Given the description of an element on the screen output the (x, y) to click on. 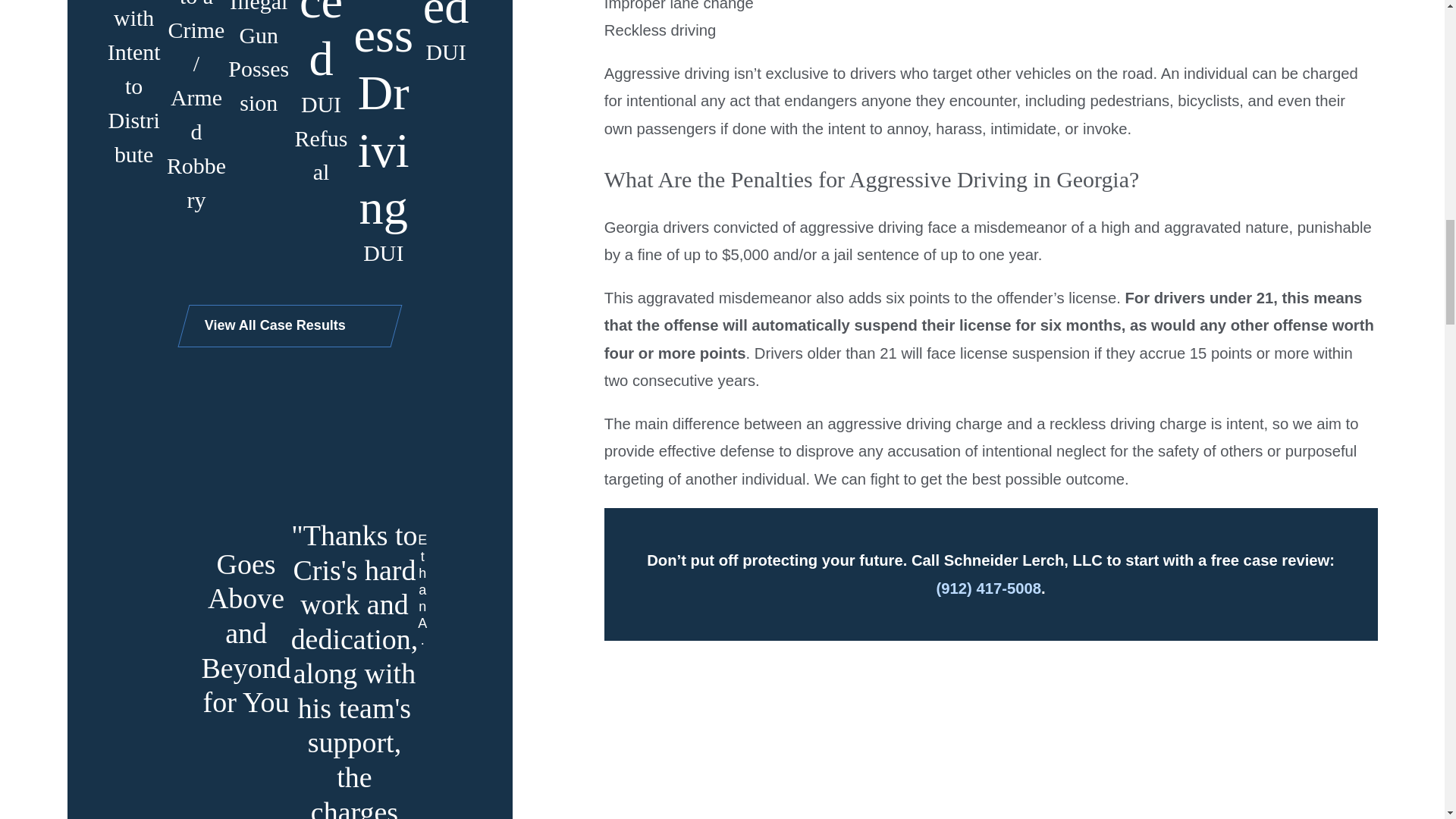
5 Star Rating (167, 668)
5 Star Rating (521, 634)
